Given the description of an element on the screen output the (x, y) to click on. 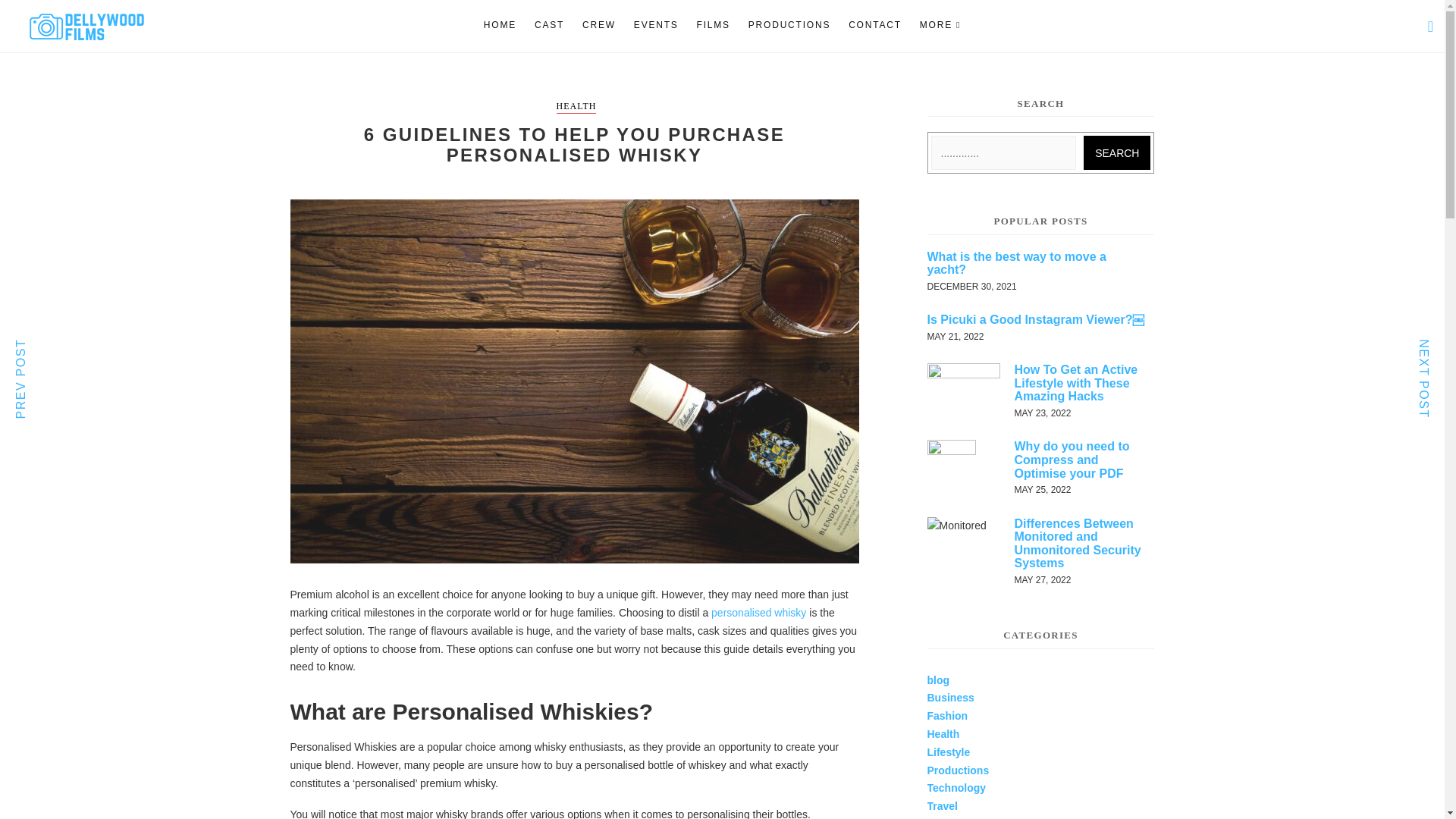
CONTACT (874, 25)
HEALTH (576, 106)
personalised whisky (758, 612)
PRODUCTIONS (788, 25)
